Given the description of an element on the screen output the (x, y) to click on. 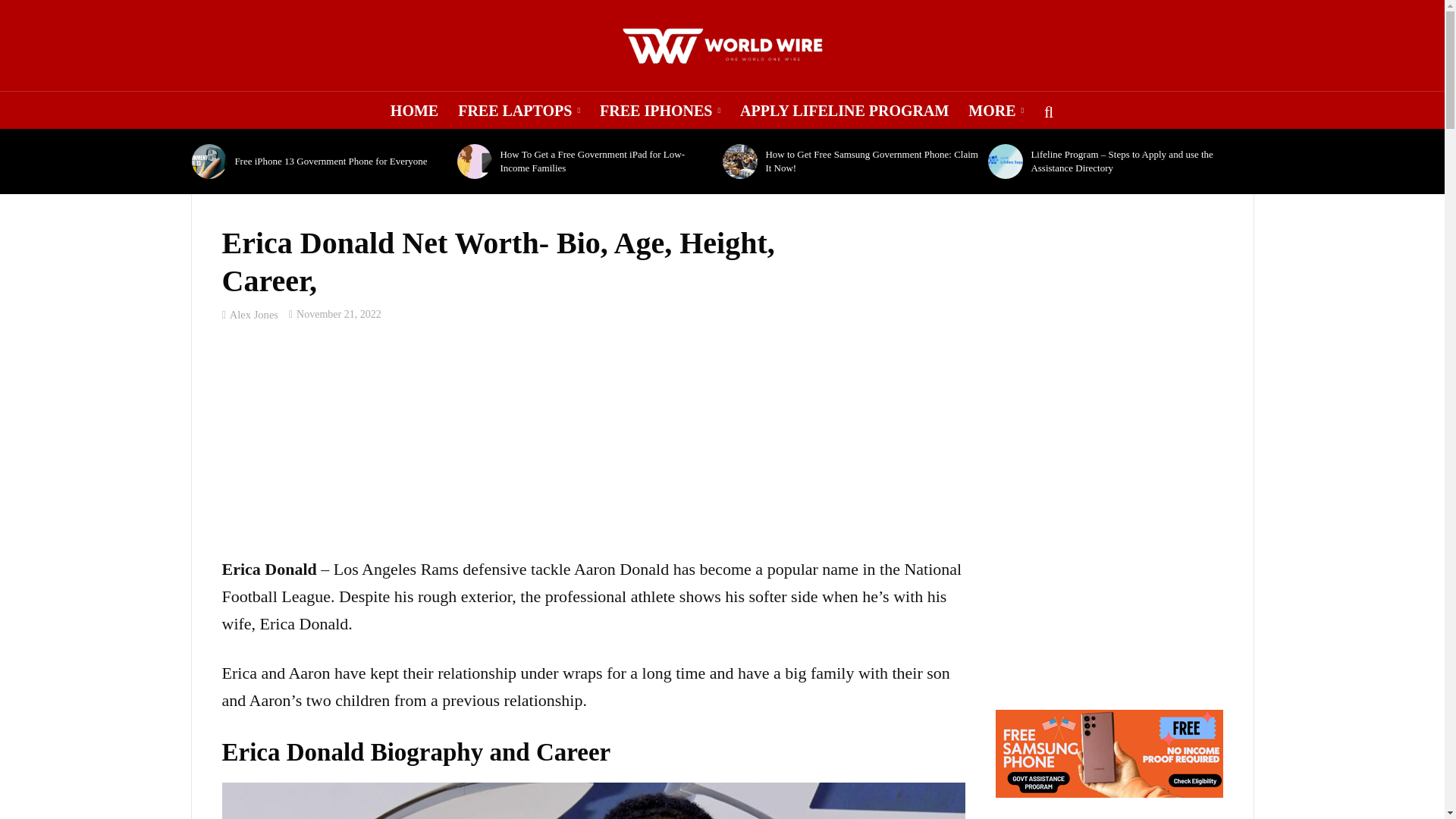
HOME (414, 110)
How To Get a Free Government iPad for Low-Income Families (474, 161)
MORE (995, 110)
Free iPhone 13 Government Phone for Everyone (208, 161)
FREE IPHONES (659, 110)
FREE LAPTOPS (518, 110)
APPLY LIFELINE PROGRAM (844, 110)
How to Get Free Samsung Government Phone: Claim It Now! (739, 161)
